Given the description of an element on the screen output the (x, y) to click on. 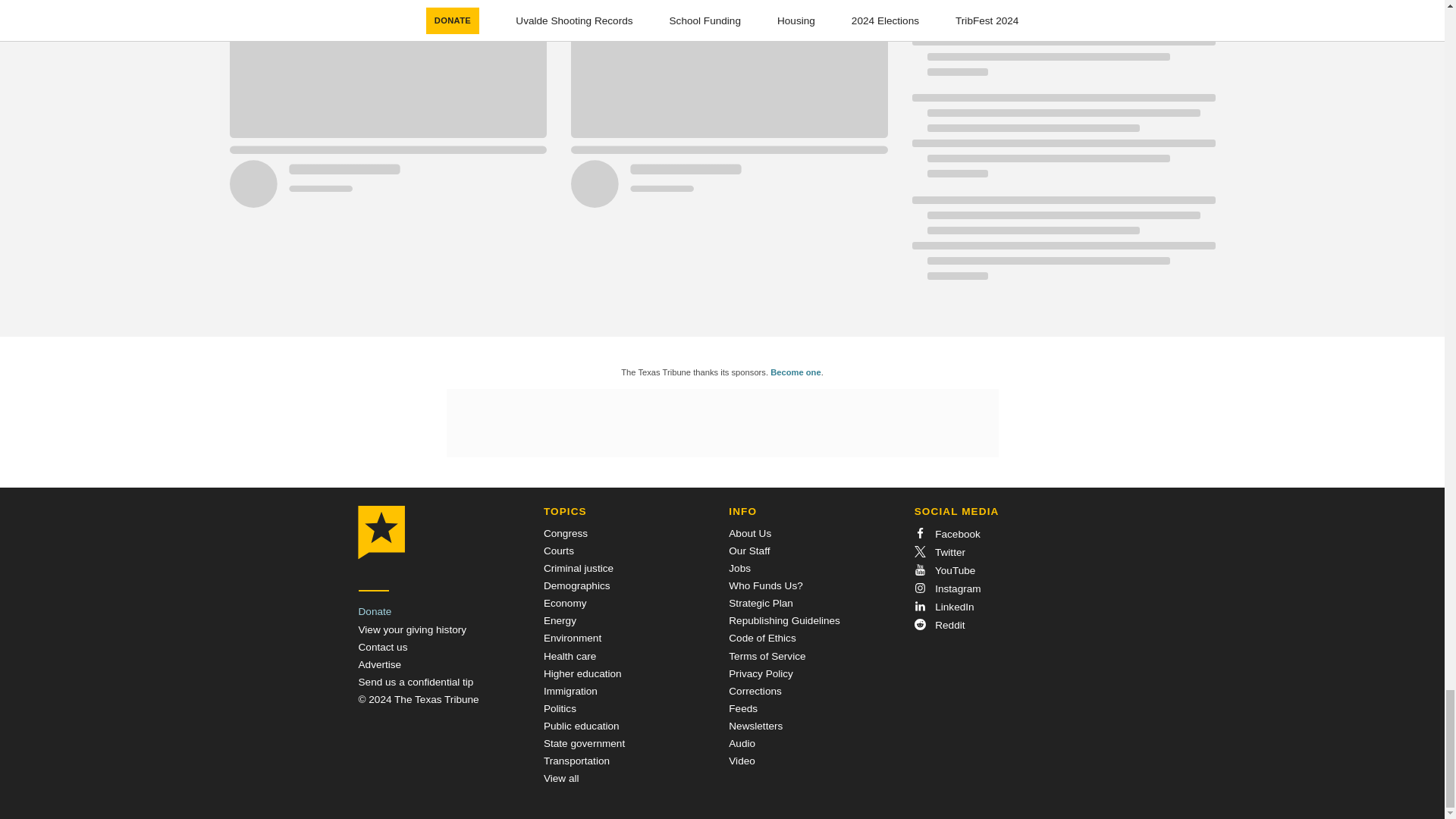
About Us (750, 532)
Terms of Service (767, 655)
Audio (742, 743)
Strategic Plan (761, 603)
Who Funds Us? (765, 585)
Send a Tip (415, 681)
Code of Ethics (761, 637)
Republishing Guidelines (784, 620)
Feeds (743, 708)
Advertise (379, 664)
